Given the description of an element on the screen output the (x, y) to click on. 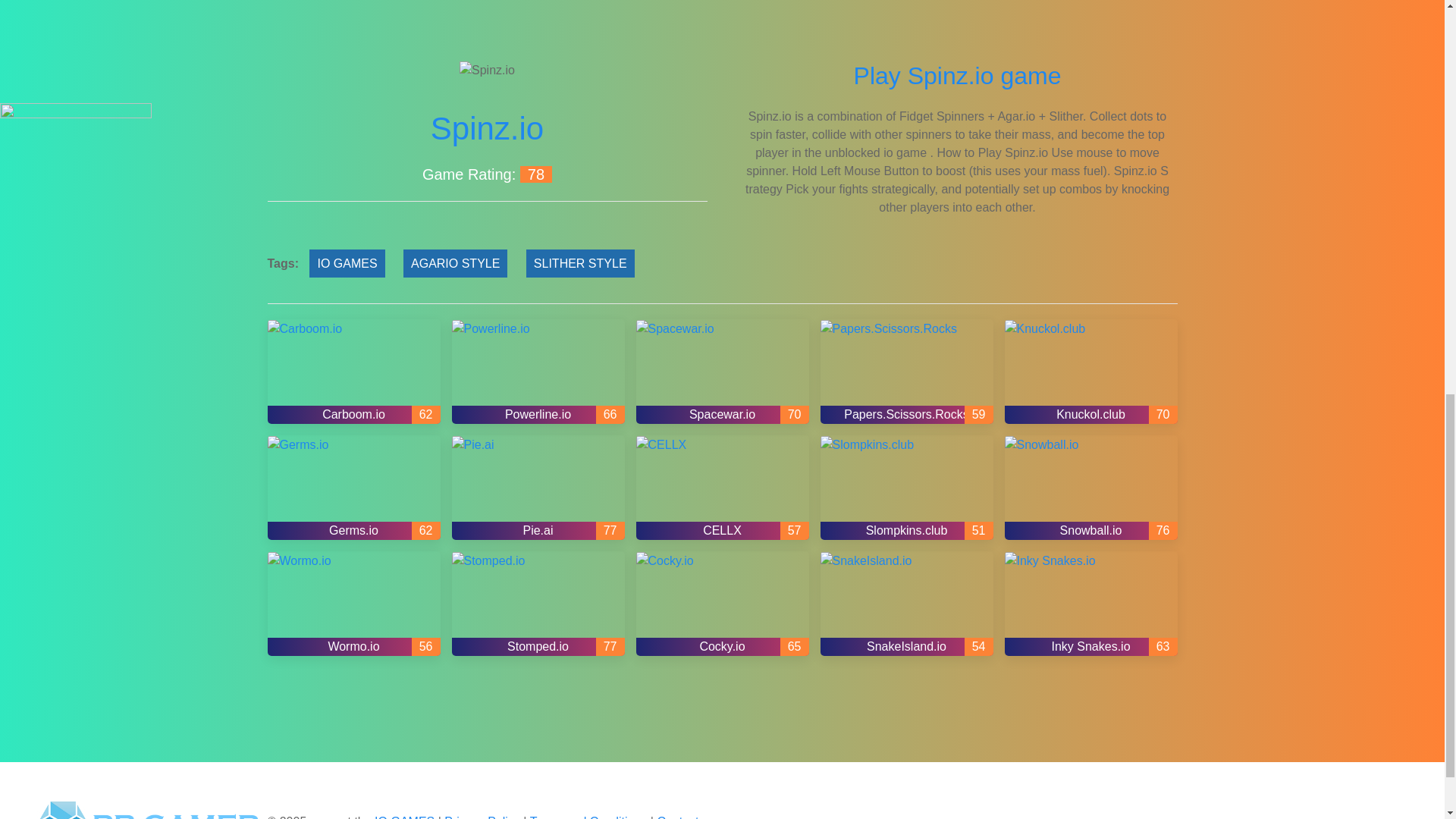
Cocky.io (721, 603)
Inky Snakes.io (1090, 603)
Stomped.io (537, 603)
SnakeIsland.io (906, 603)
Slompkins.club (906, 486)
Pie.ai (537, 486)
Papers.Scissors.Rocks (906, 371)
Spacewar.io (721, 371)
Knuckol.club (1090, 371)
Snowball.io (1090, 486)
